Given the description of an element on the screen output the (x, y) to click on. 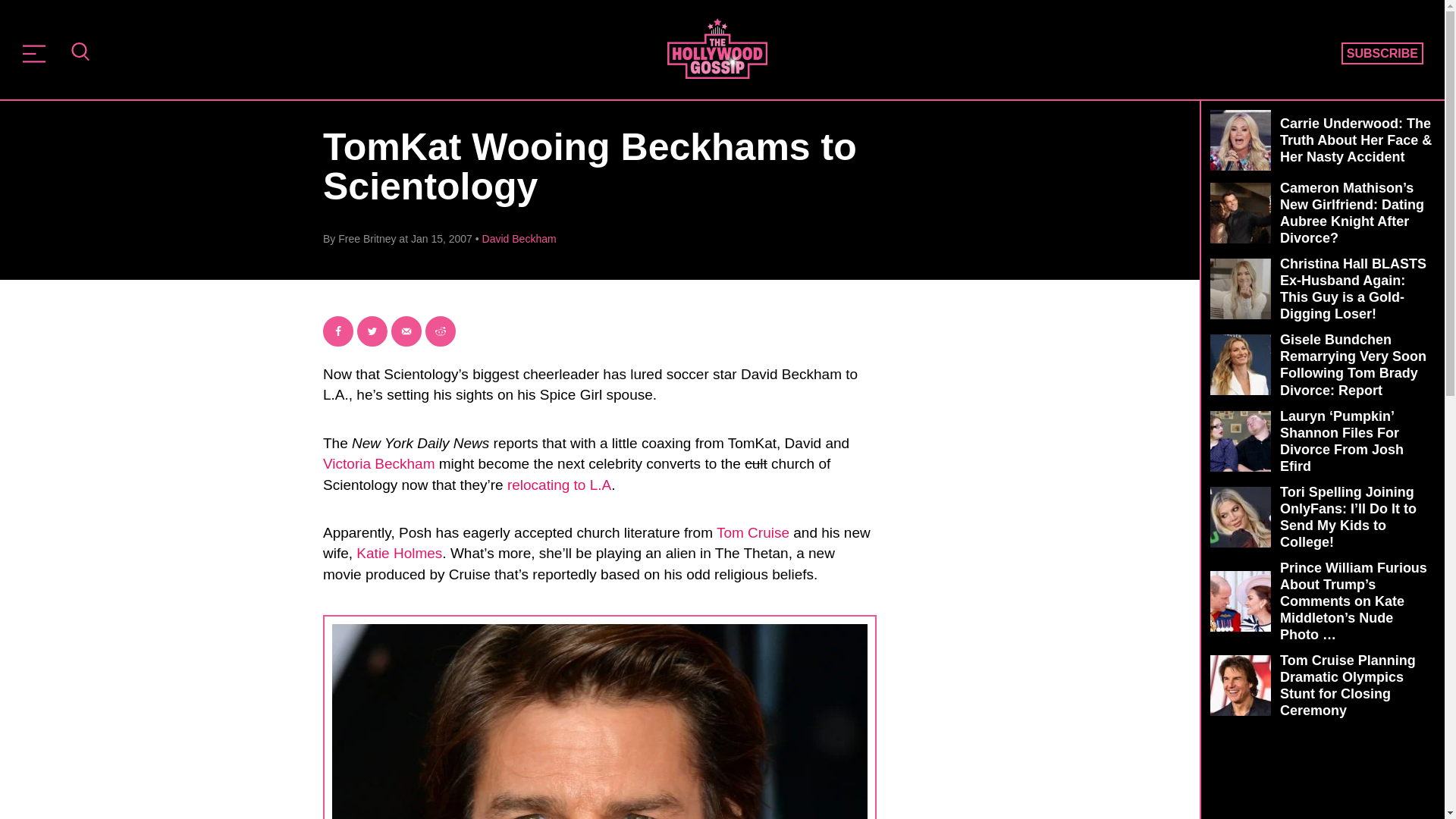
relocating to L.A (558, 484)
David Beckham (518, 238)
Send over email (406, 331)
The Hollywood Gossip (716, 48)
Free Britney (366, 238)
Share on Facebook (338, 331)
Share on Reddit (440, 331)
